Given the description of an element on the screen output the (x, y) to click on. 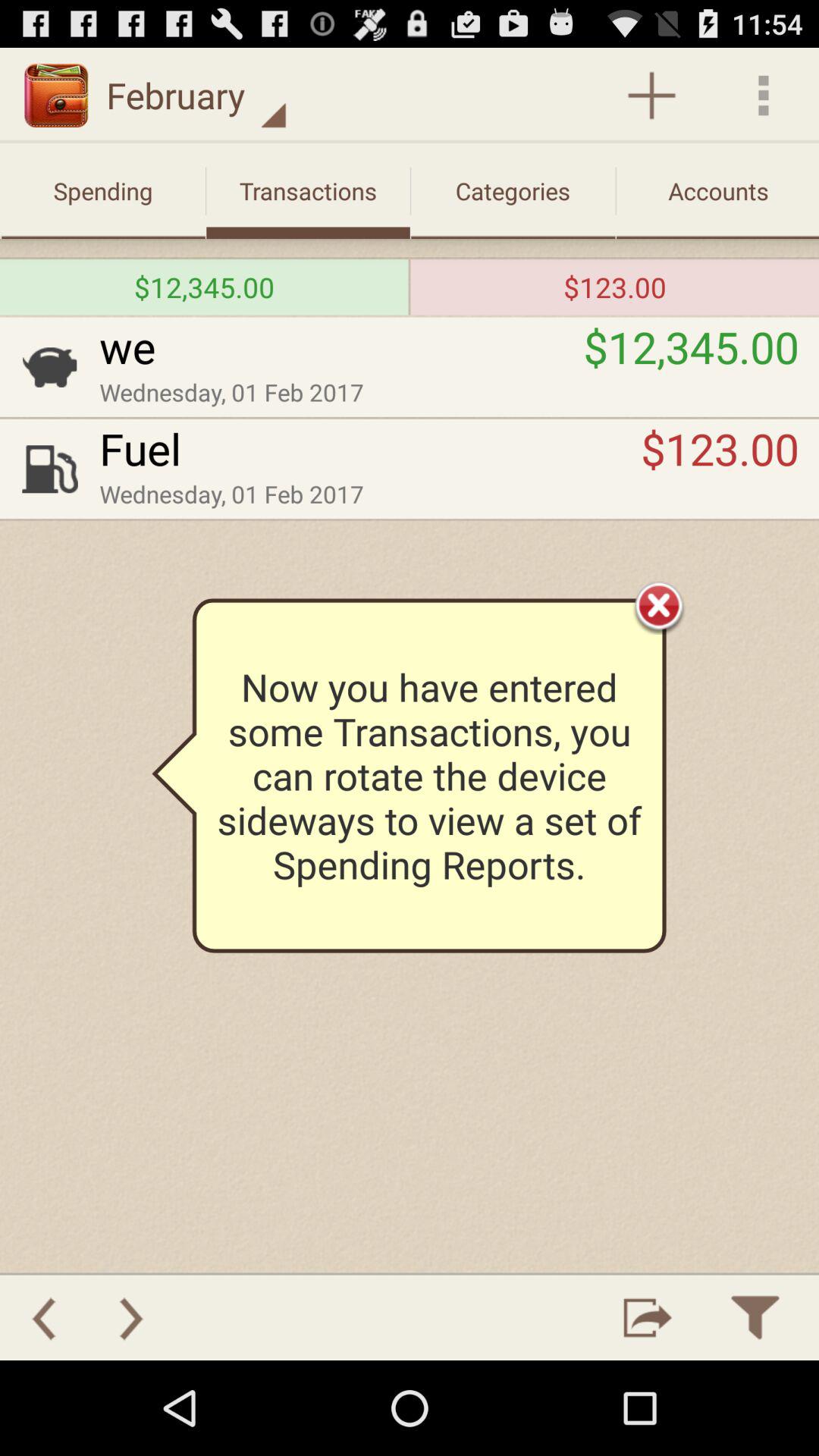
open the icon to the left of the $123.00 icon (409, 287)
